Given the description of an element on the screen output the (x, y) to click on. 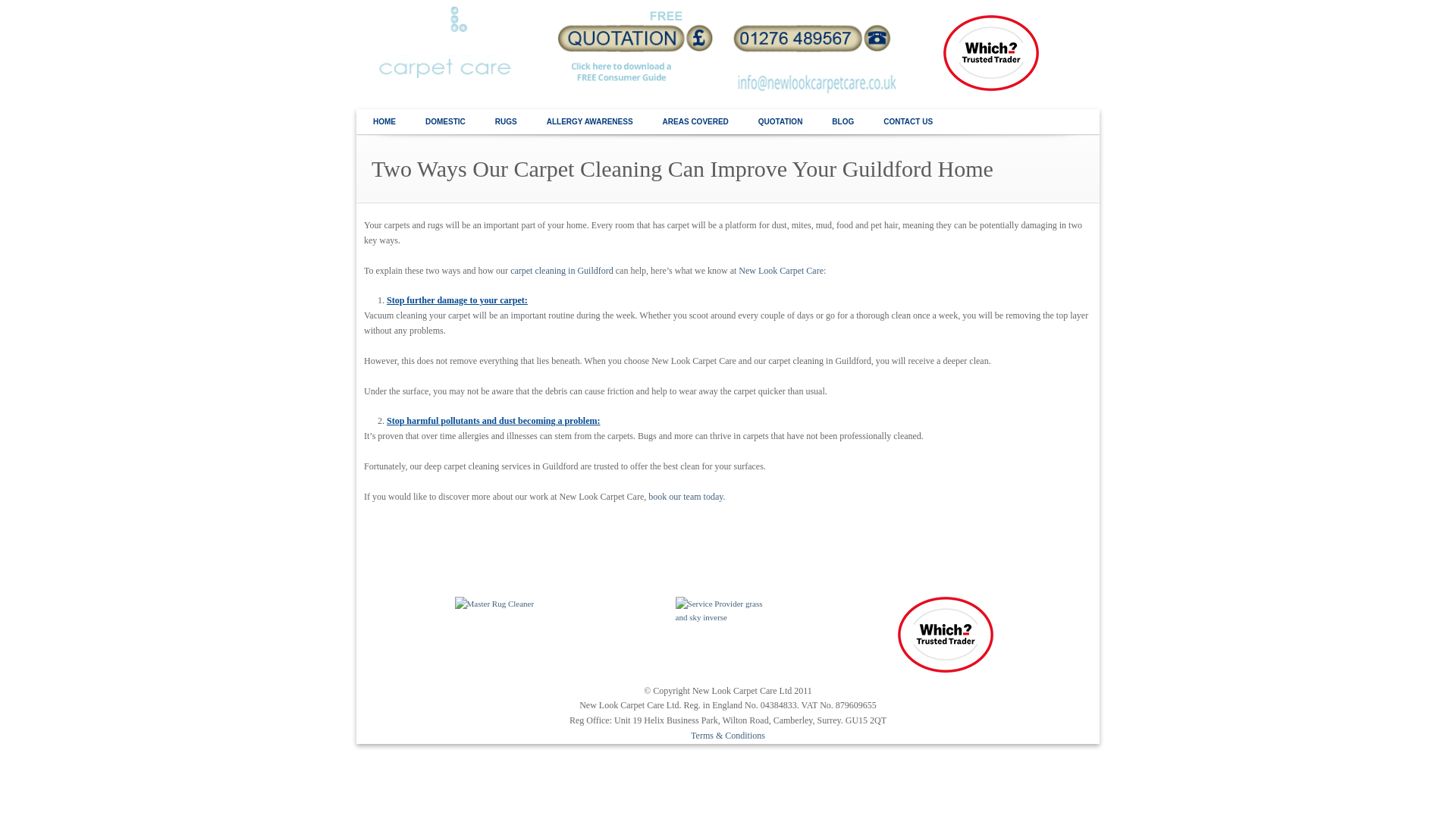
HOME (384, 122)
ALLERGY AWARENESS (590, 122)
CONTACT US (907, 122)
New Look Carpet Care (781, 270)
carpet cleaning in Guildford (561, 270)
QUOTATION (780, 122)
AREAS COVERED (695, 122)
RUGS (505, 122)
DOMESTIC (445, 122)
book our team today (684, 496)
BLOG (842, 122)
